Given the description of an element on the screen output the (x, y) to click on. 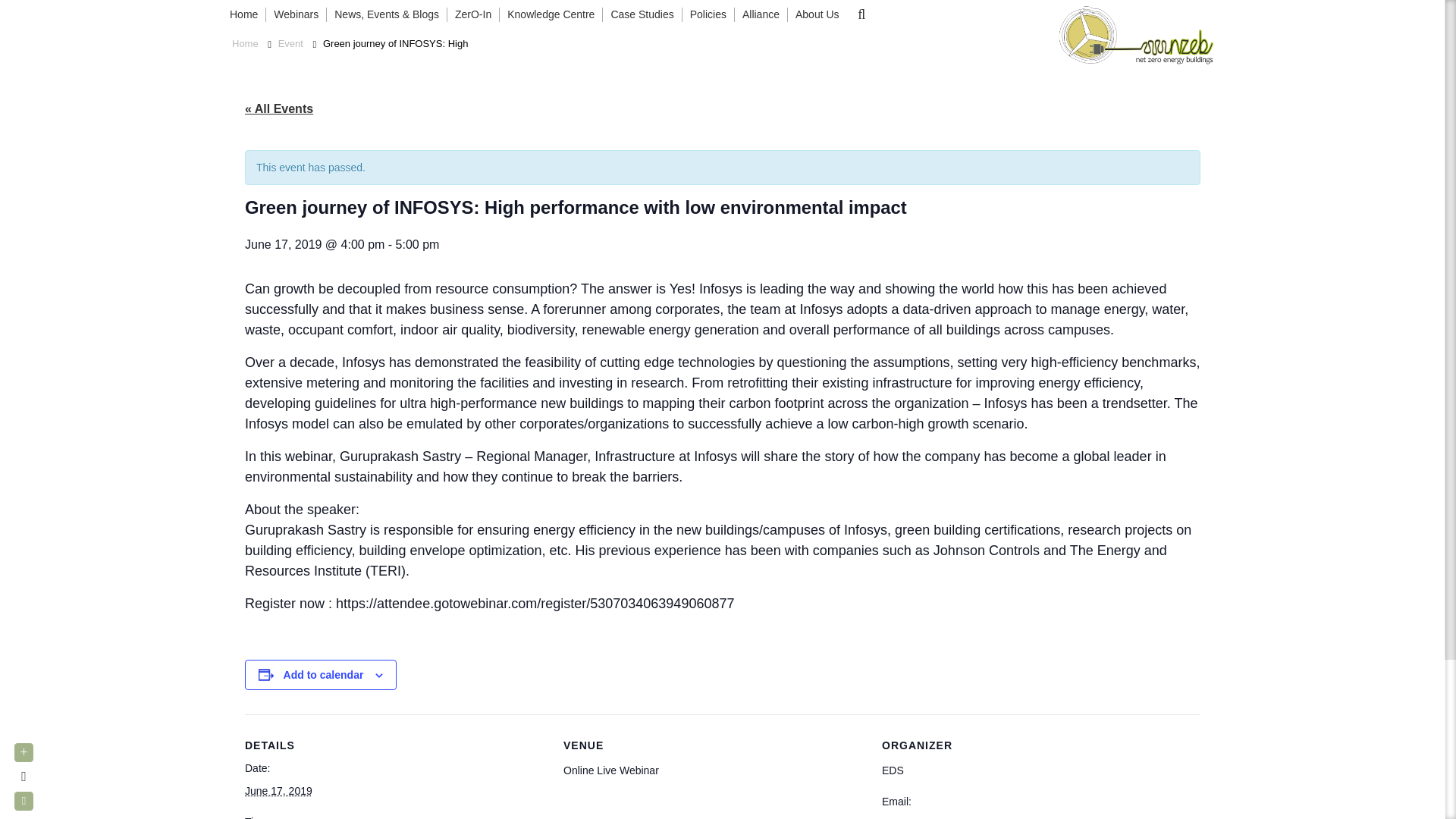
2019-06-17 (278, 790)
Webinars (296, 14)
Event (291, 43)
Decrease font size (23, 800)
Home (245, 43)
Home (247, 14)
Increase font size (23, 752)
Reset font size (23, 776)
